Given the description of an element on the screen output the (x, y) to click on. 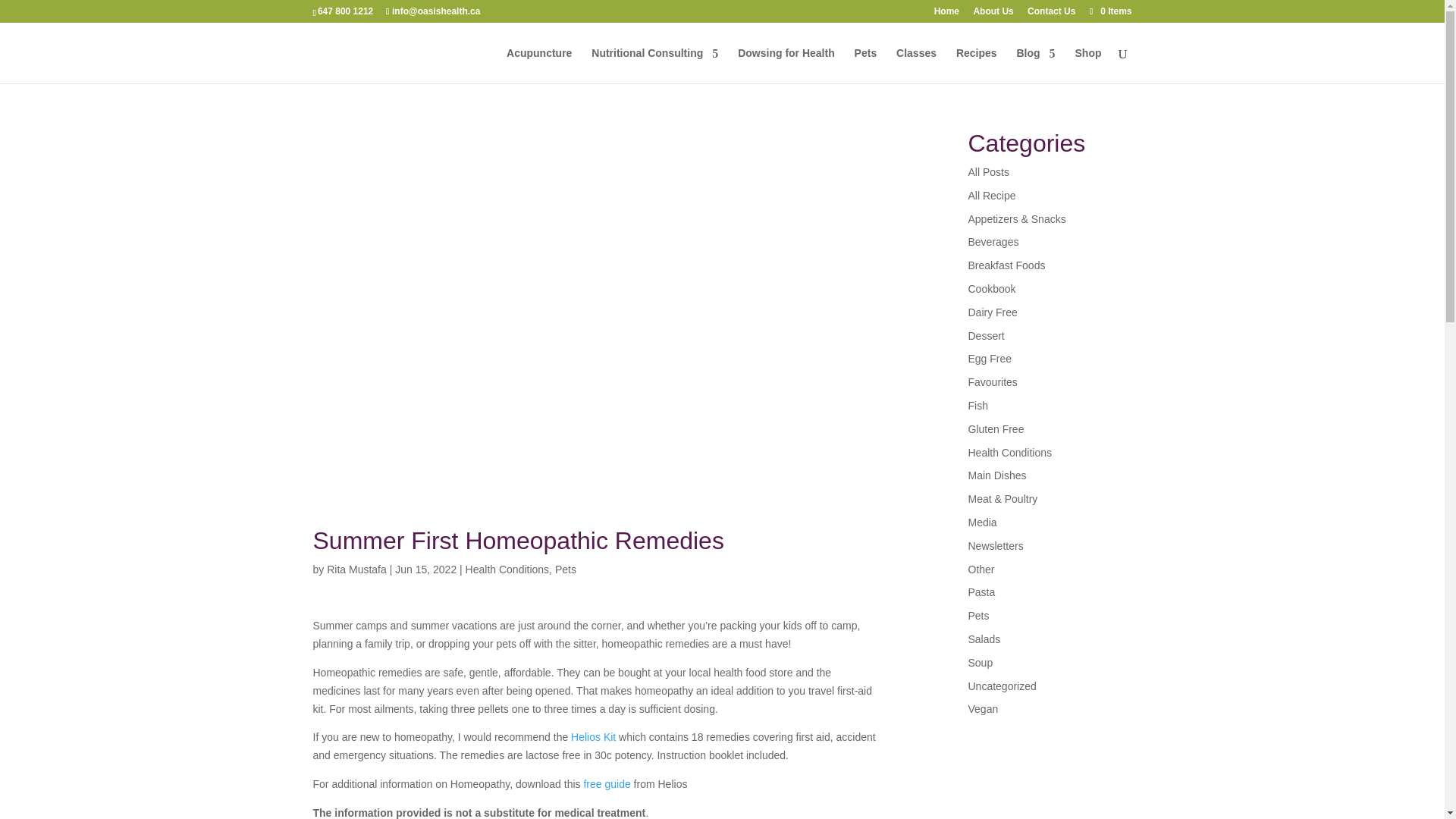
All Recipe (991, 195)
All Posts (988, 172)
Classes (916, 65)
Nutritional Consulting (654, 65)
Beverages (992, 241)
Pets (565, 569)
Blog (1035, 65)
Dowsing for Health (786, 65)
Posts by Rita Mustafa (356, 569)
free guide (606, 784)
